Given the description of an element on the screen output the (x, y) to click on. 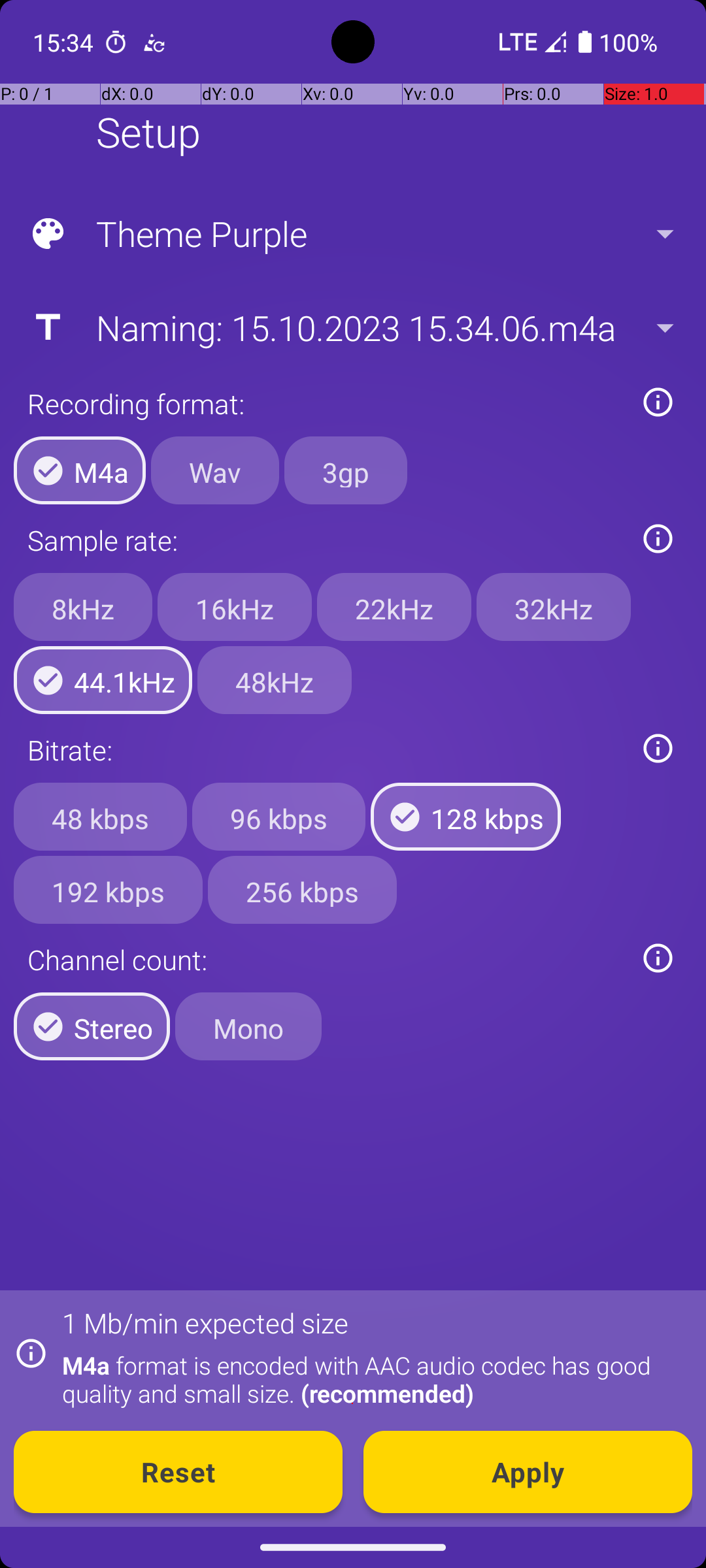
Naming: 15.10.2023 15.34.06.m4a Element type: android.widget.TextView (352, 327)
VLC notification: Scanning for media files Element type: android.widget.ImageView (153, 41)
